Given the description of an element on the screen output the (x, y) to click on. 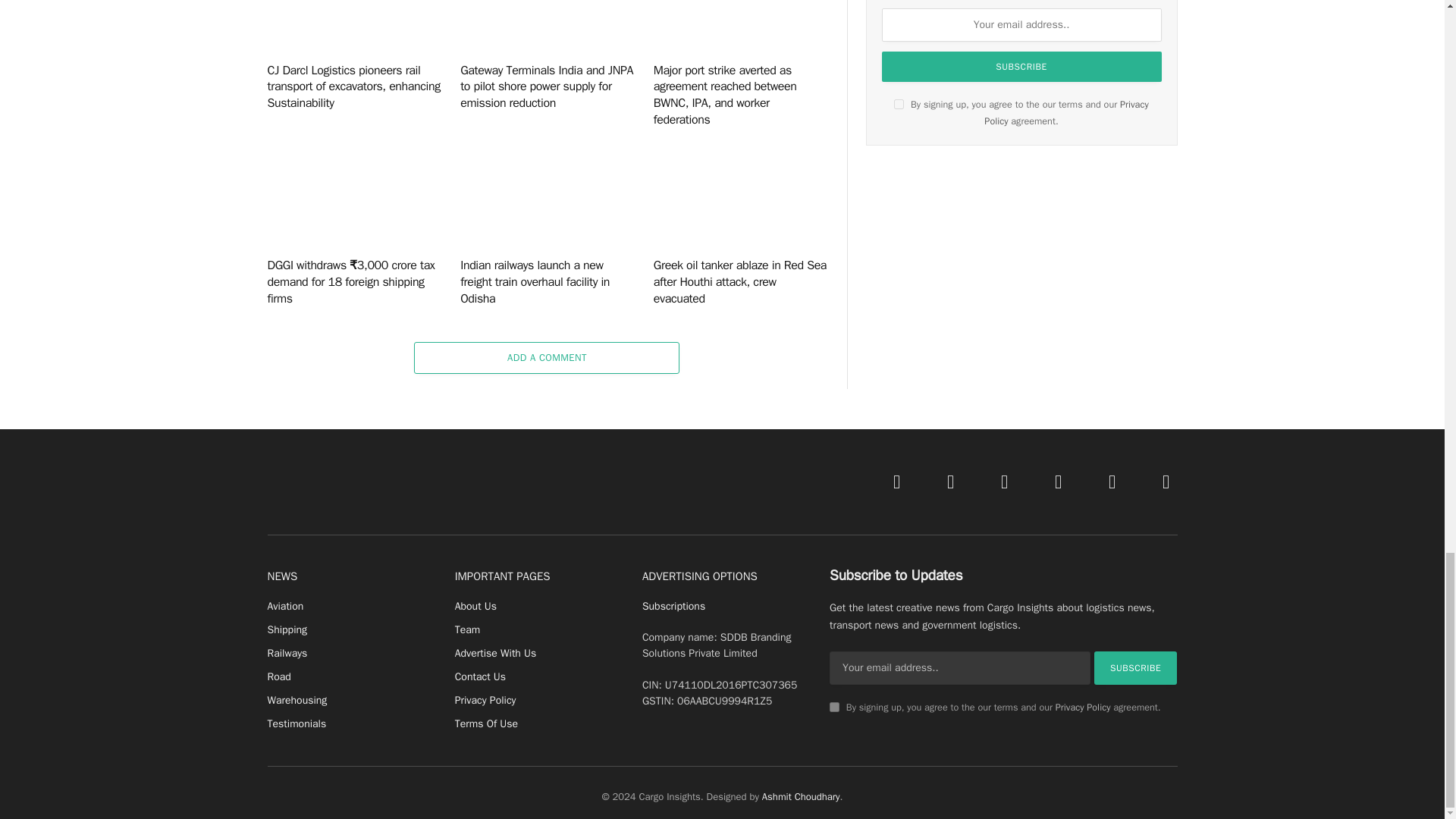
on (898, 103)
Subscribe (1021, 66)
Subscribe (1135, 667)
on (834, 706)
